Given the description of an element on the screen output the (x, y) to click on. 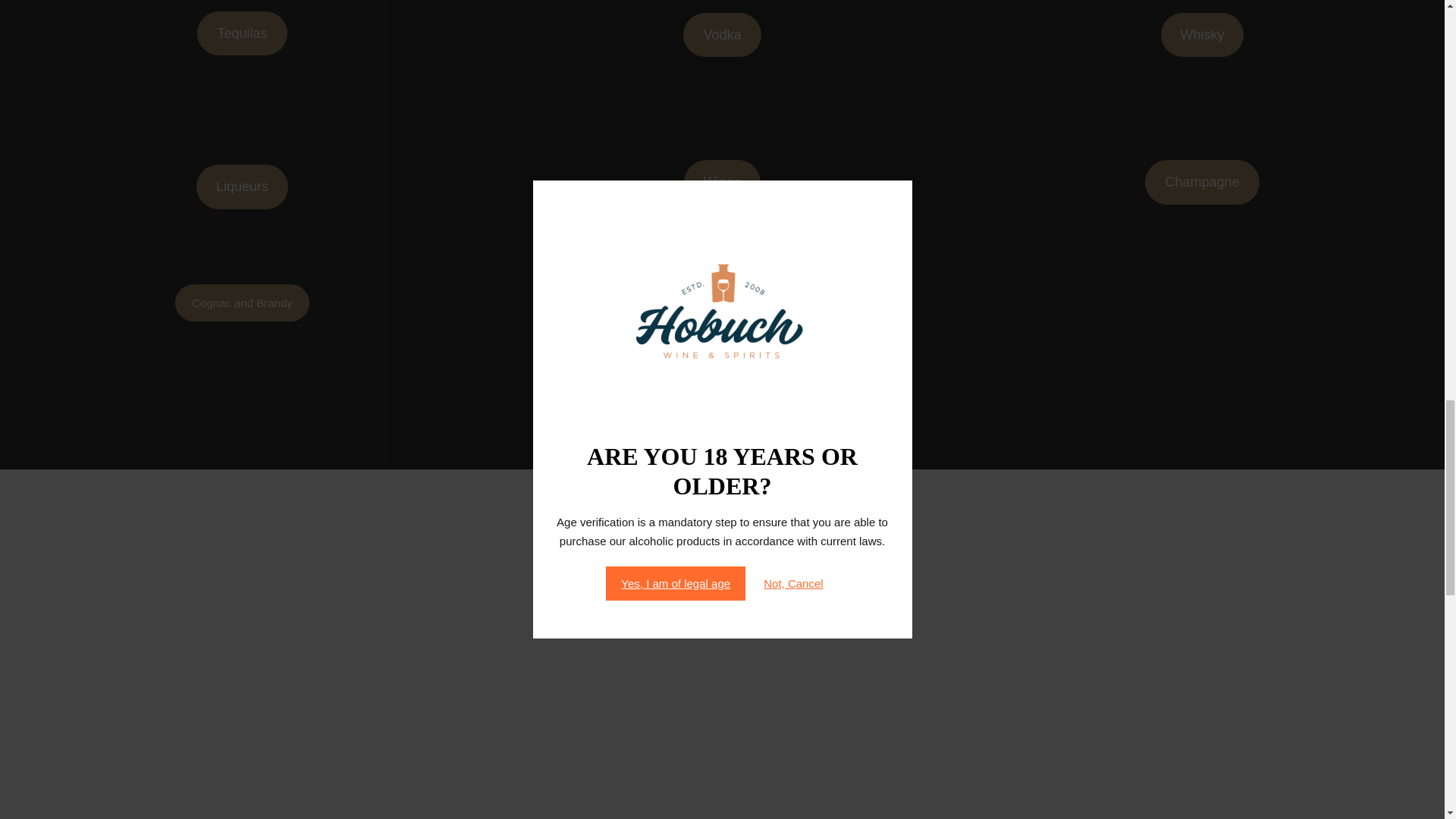
Cognac and Brandy (241, 303)
Champagne (1201, 181)
Vodka (721, 35)
Whisky (1202, 35)
Liqueurs (242, 186)
Wines (722, 181)
Tequilas (241, 33)
